Given the description of an element on the screen output the (x, y) to click on. 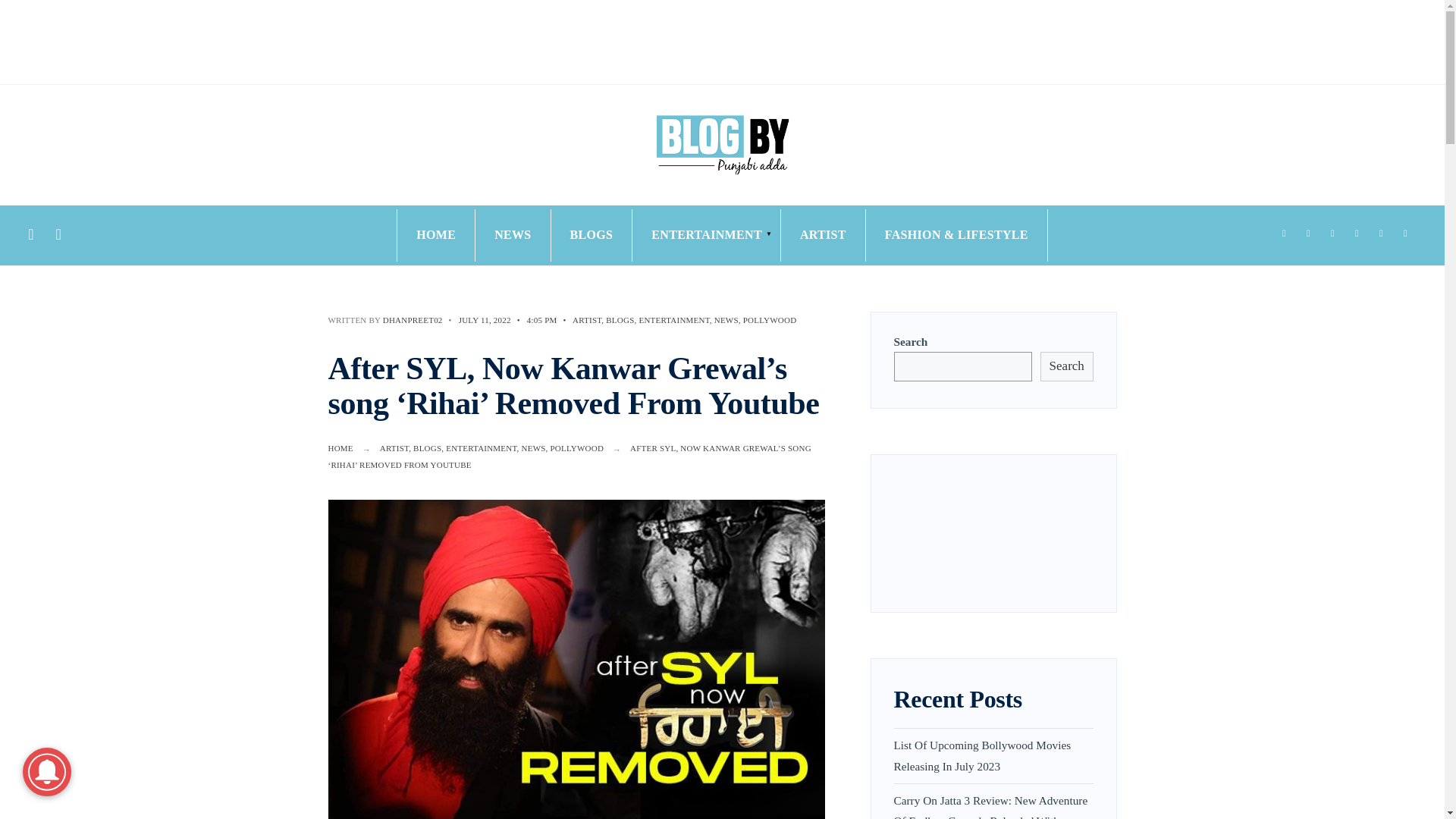
BLOGS (591, 235)
Facebook (1283, 233)
HOME (339, 447)
NEWS (726, 319)
POLLYWOOD (577, 447)
YouTube (1380, 233)
ENTERTAINMENT (674, 319)
HOME (435, 235)
Posts by dhanpreet02 (412, 319)
ARTIST (586, 319)
